Given the description of an element on the screen output the (x, y) to click on. 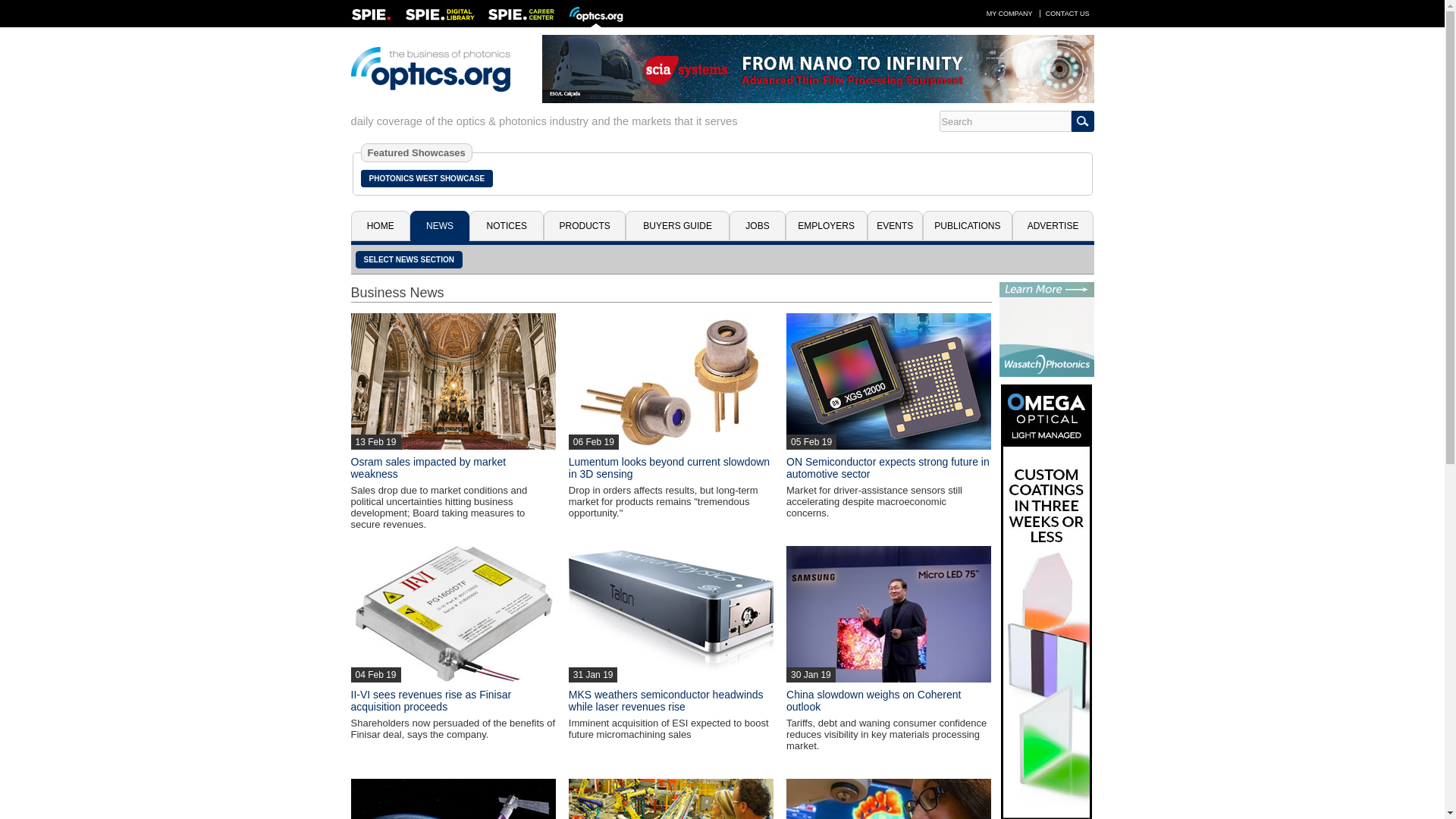
CONTACT US (1067, 13)
NEWS (439, 225)
NOTICES (505, 225)
BUYERS GUIDE (677, 225)
HOME (379, 225)
MY COMPANY (1008, 13)
JOBS (757, 225)
PHOTONICS WEST SHOWCASE (427, 178)
Search (1004, 120)
PRODUCTS (584, 225)
